Given the description of an element on the screen output the (x, y) to click on. 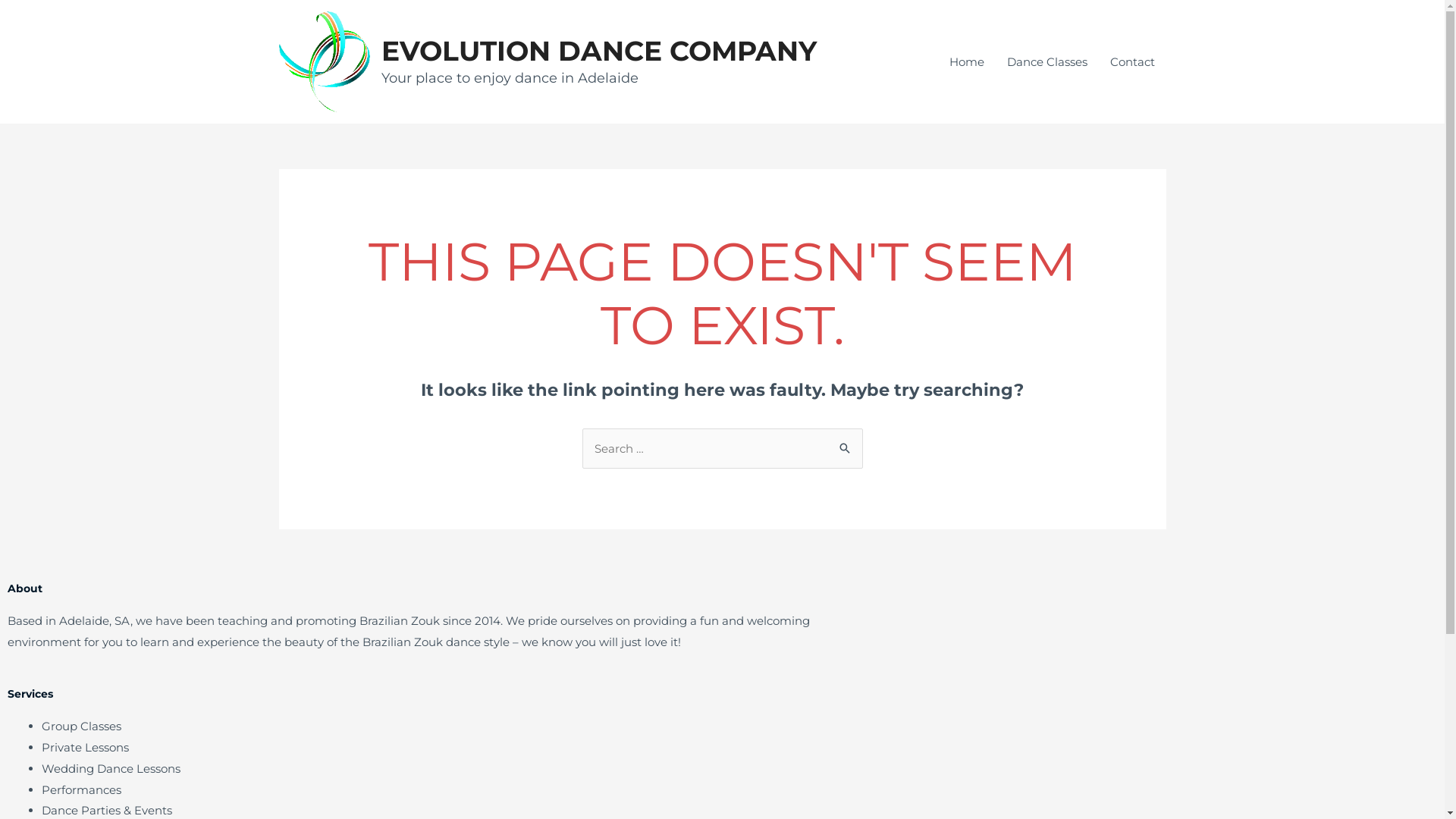
Home Element type: text (965, 61)
EVOLUTION DANCE COMPANY Element type: text (597, 50)
Dance Classes Element type: text (1046, 61)
Search Element type: text (845, 443)
Contact Element type: text (1131, 61)
